Given the description of an element on the screen output the (x, y) to click on. 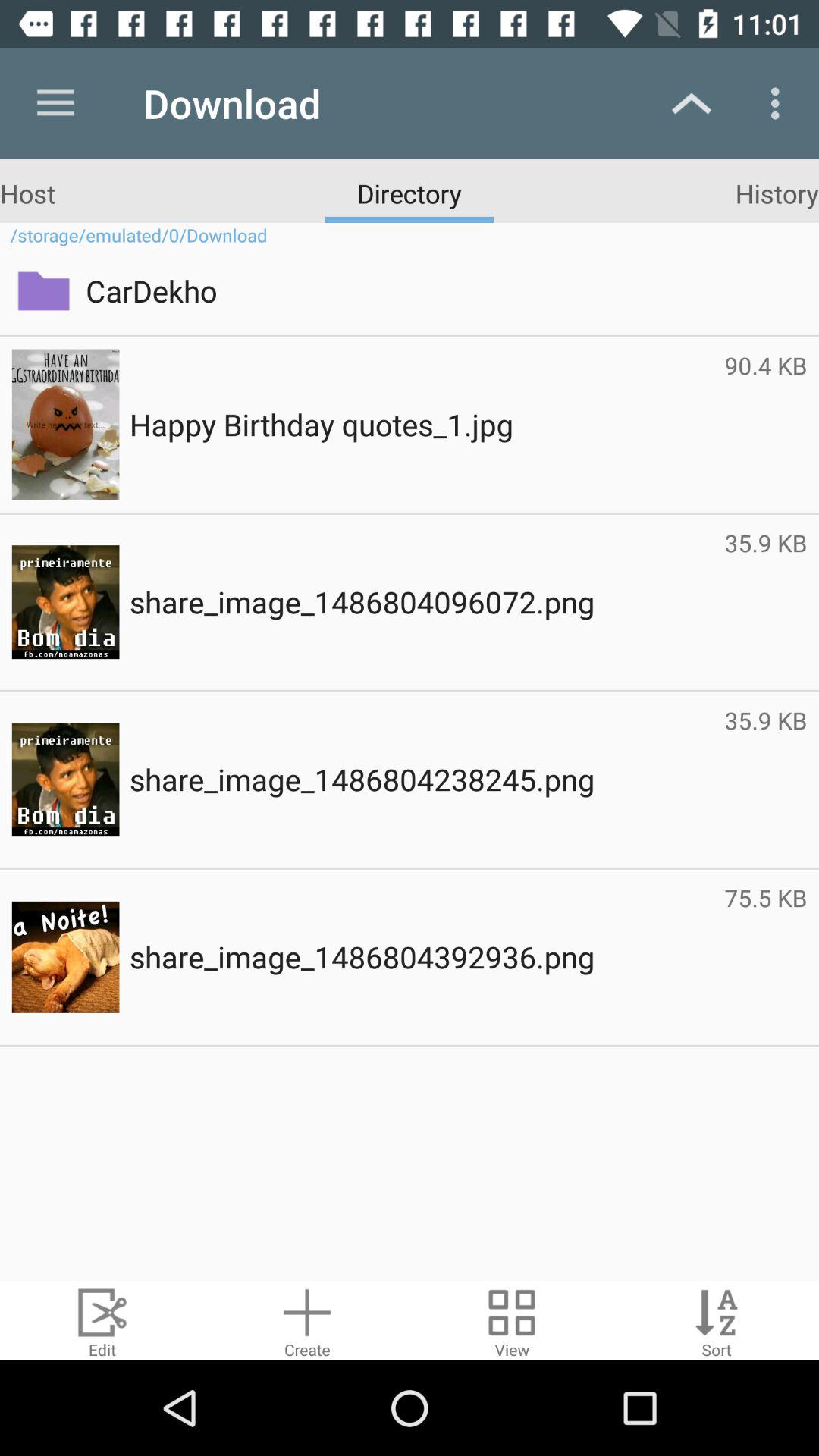
edit photo (102, 1320)
